Given the description of an element on the screen output the (x, y) to click on. 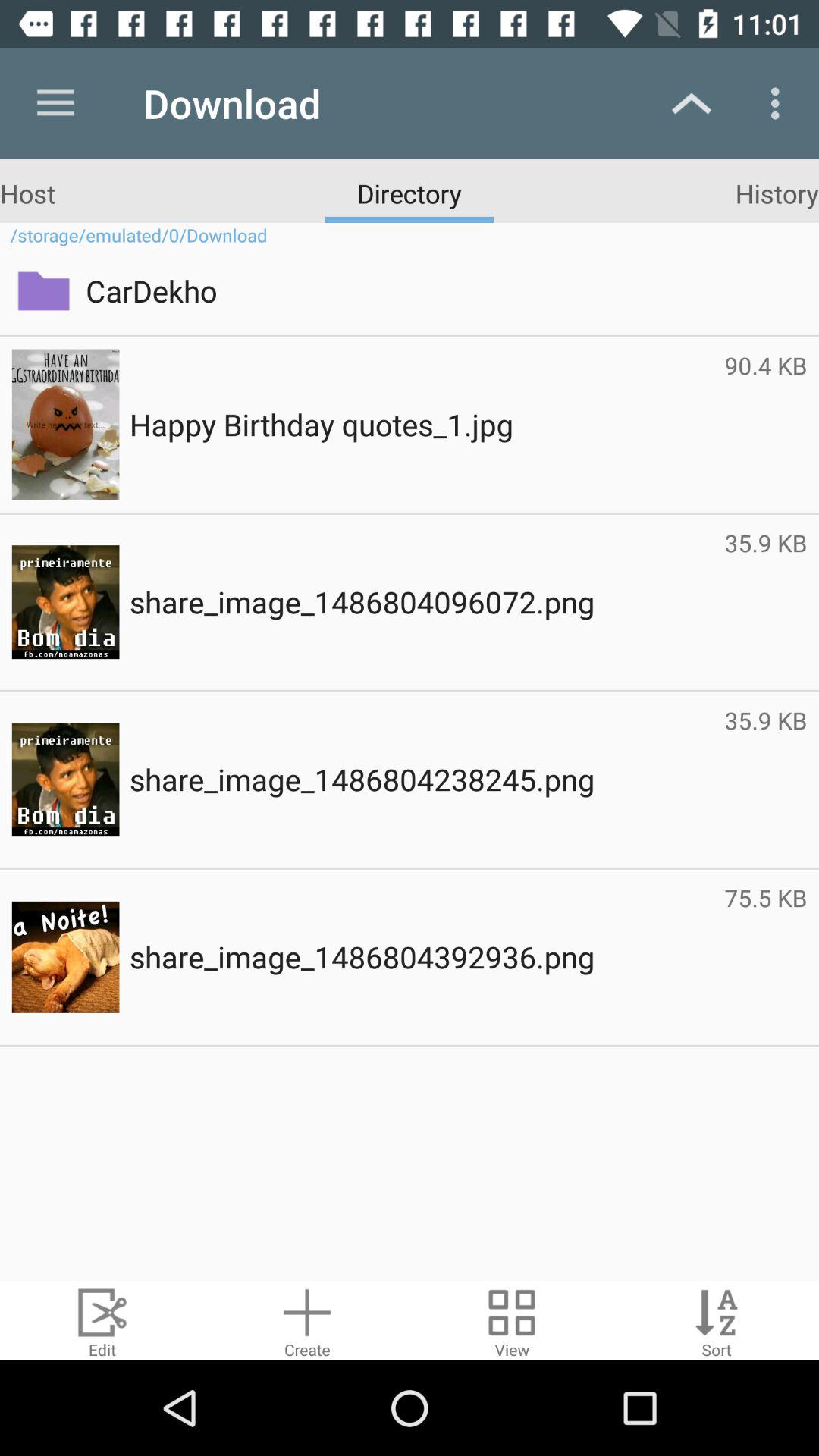
edit photo (102, 1320)
